Given the description of an element on the screen output the (x, y) to click on. 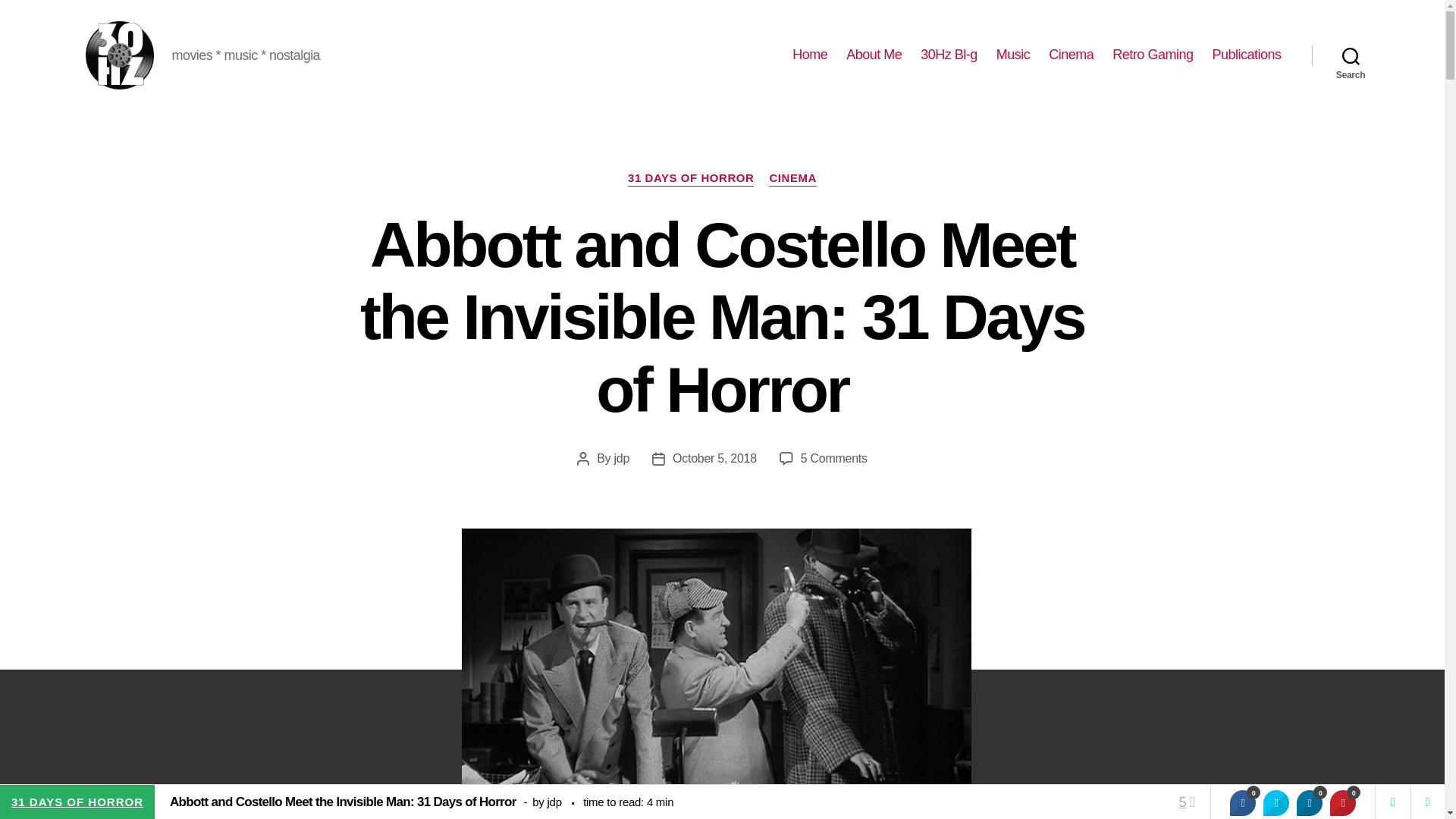
October 5, 2018 (714, 458)
Share on Linkedin (1309, 802)
Cinema (1070, 54)
30Hz Bl-g (948, 54)
Home (809, 54)
jdp (622, 458)
Retro Gaming (1152, 54)
Share on Pinterest (1342, 802)
About Me (873, 54)
Share on Twitter (1275, 802)
Publications (1246, 54)
CINEMA (791, 178)
Music (1012, 54)
Share on Facebook (1242, 802)
